Given the description of an element on the screen output the (x, y) to click on. 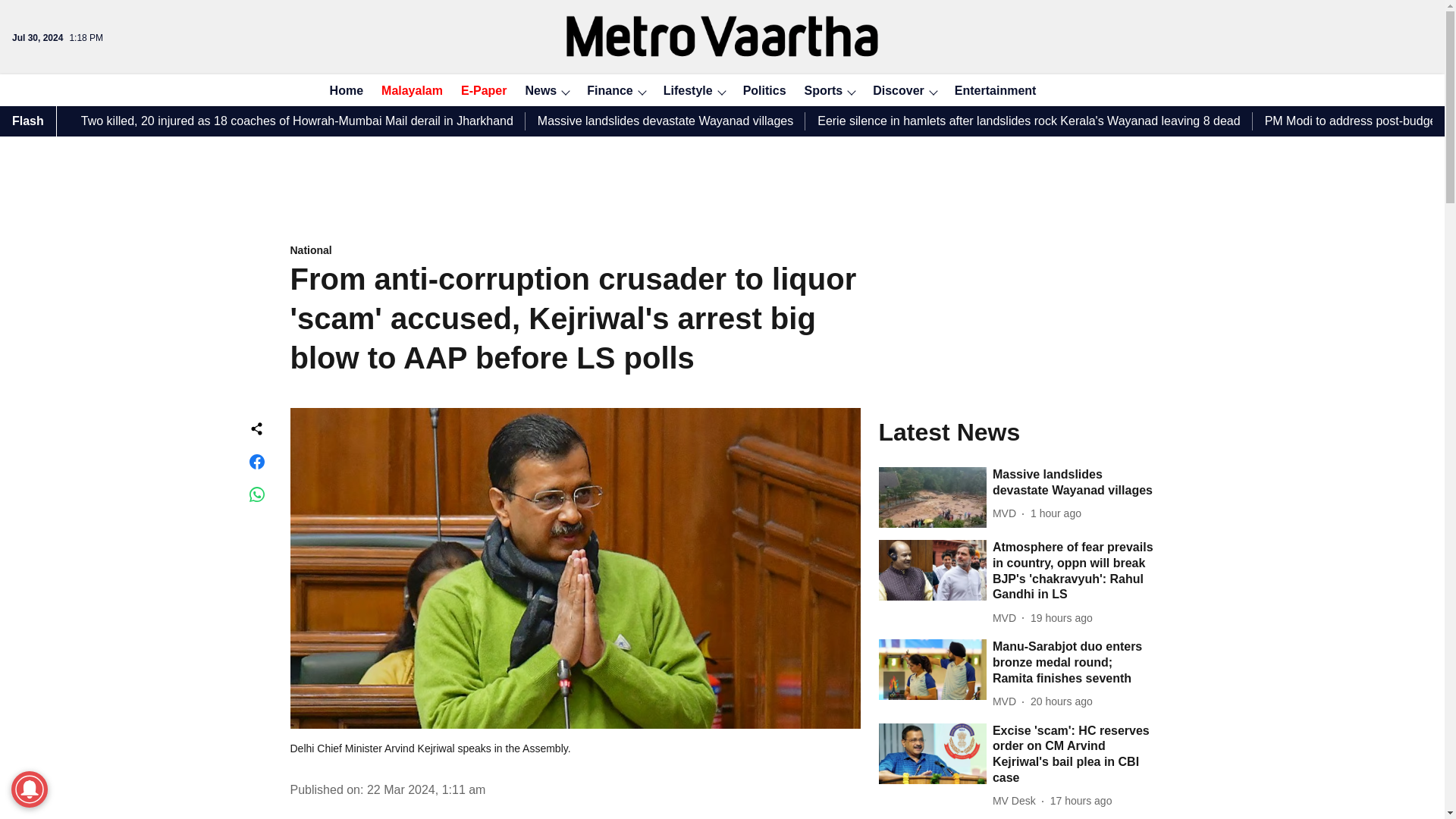
2024-07-29 09:14 (1061, 701)
2024-03-21 17:11 (426, 789)
Massive landslides devastate Wayanad villages (1073, 482)
E-Paper (478, 91)
MVD (1007, 513)
2024-07-29 10:05 (1061, 618)
Finance (604, 91)
Dark Mode (1110, 89)
Malayalam (407, 91)
2024-07-29 12:05 (1080, 801)
National (574, 251)
MVD (1007, 701)
